Given the description of an element on the screen output the (x, y) to click on. 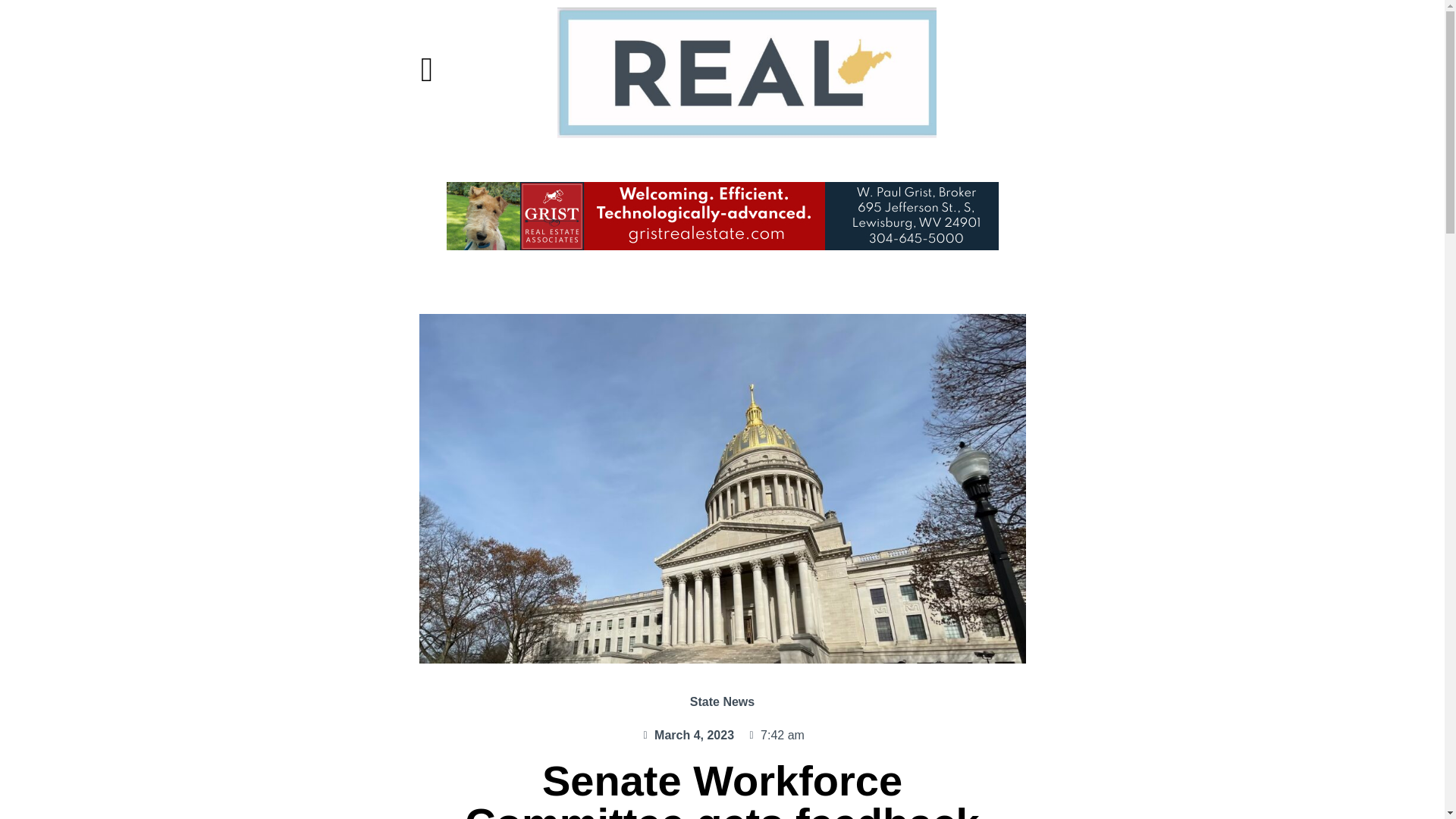
March 4, 2023 (686, 735)
State News (722, 701)
